Given the description of an element on the screen output the (x, y) to click on. 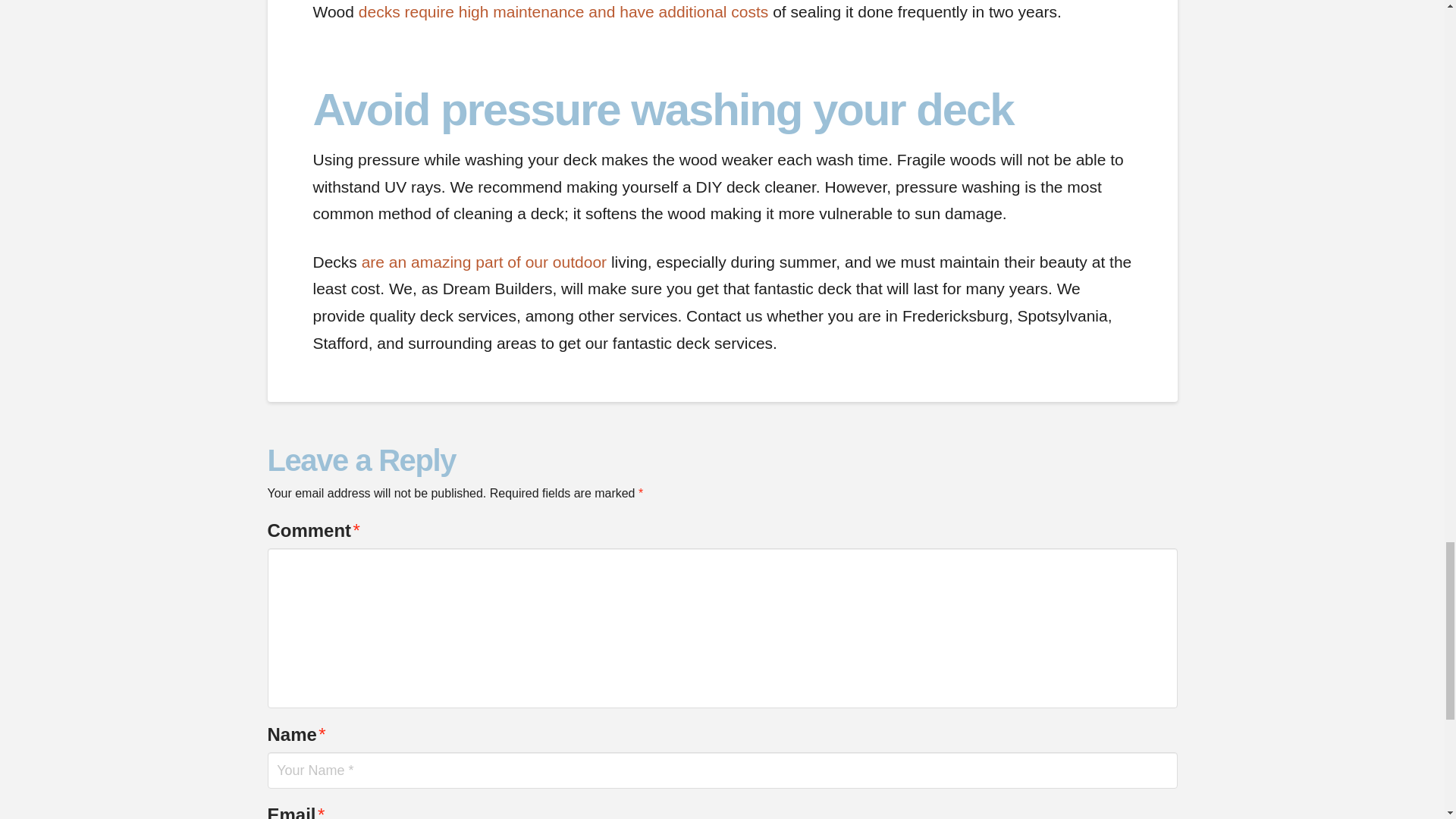
decks require high maintenance and have additional costs (563, 11)
are an amazing part of our outdoor (484, 262)
